Given the description of an element on the screen output the (x, y) to click on. 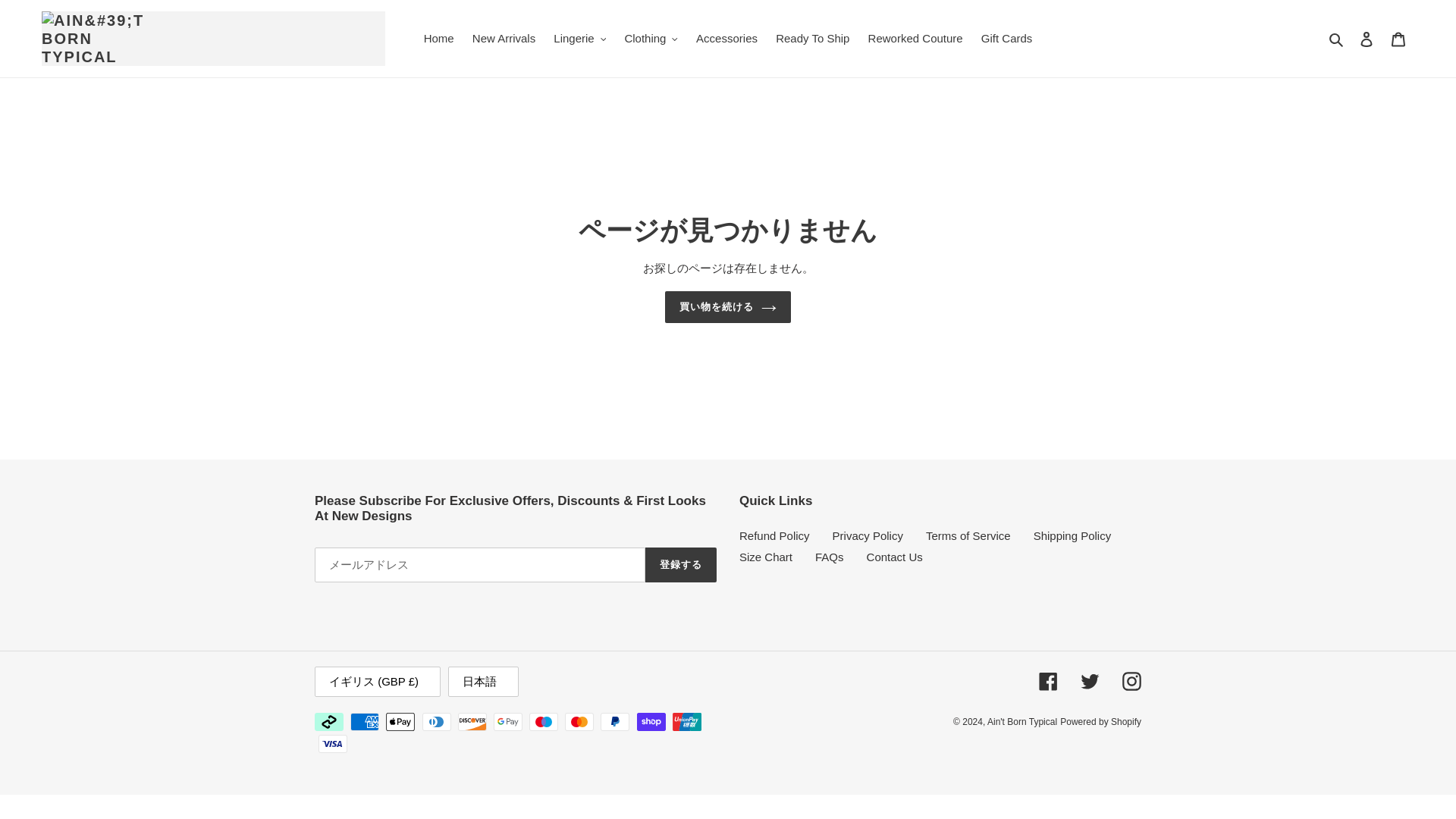
Gift Cards (1007, 38)
Reworked Couture (915, 38)
Home (438, 38)
New Arrivals (503, 38)
Accessories (726, 38)
Ready To Ship (812, 38)
Lingerie (579, 38)
Clothing (650, 38)
